Given the description of an element on the screen output the (x, y) to click on. 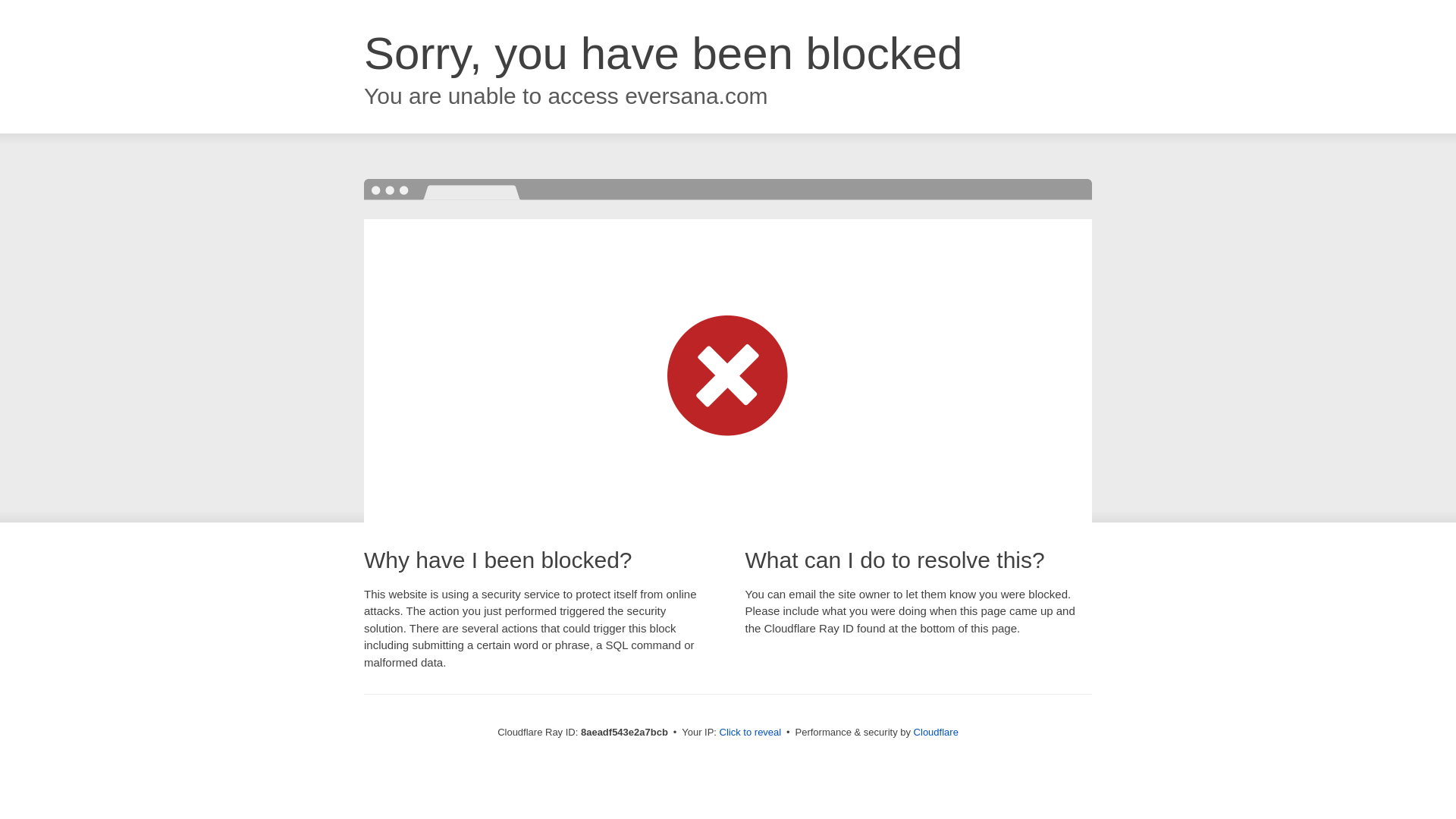
Cloudflare (936, 731)
Click to reveal (750, 732)
